Given the description of an element on the screen output the (x, y) to click on. 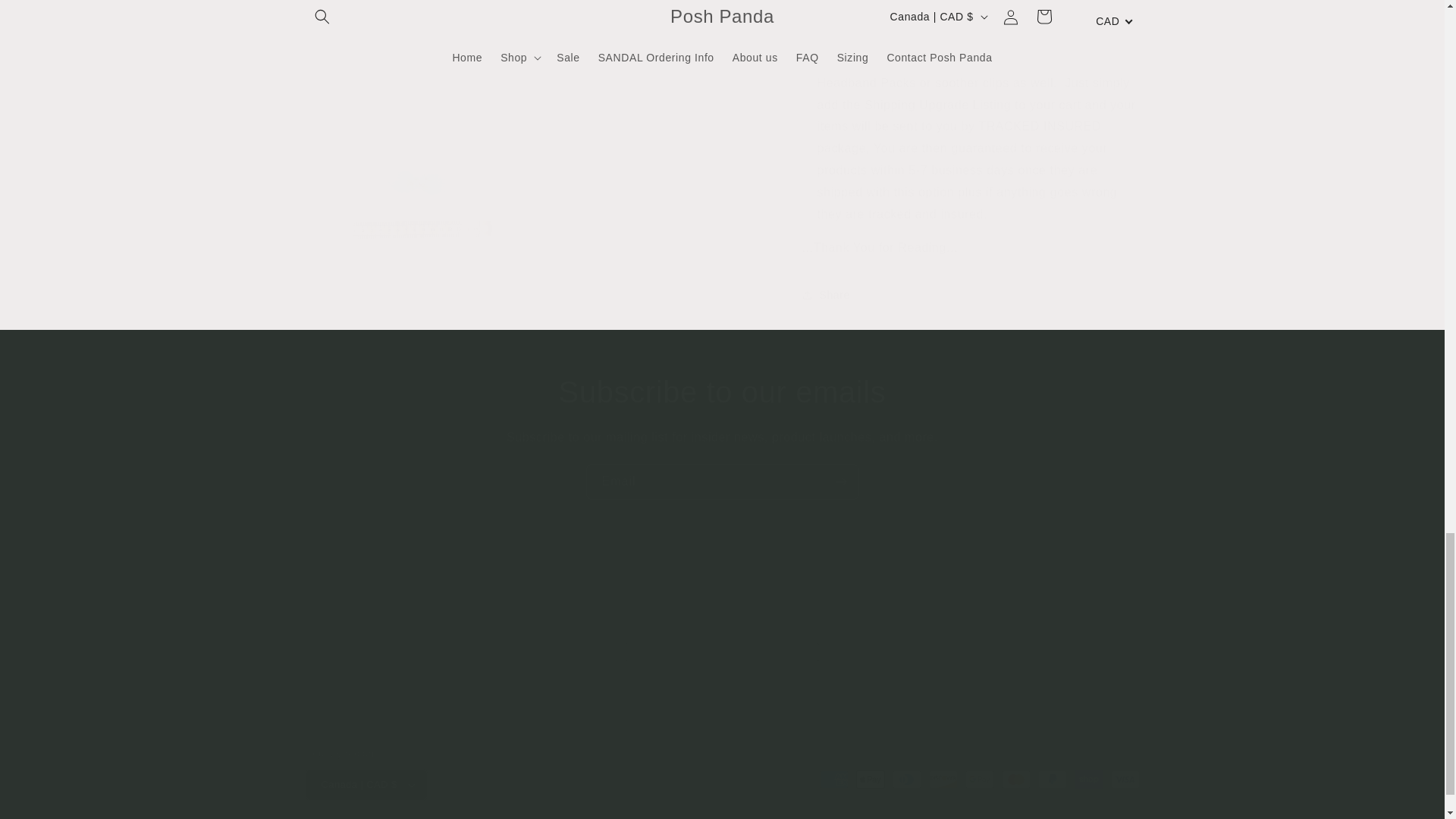
Subscribe to our emails (721, 391)
Email (722, 481)
Open media 10 in modal (415, 68)
